Given the description of an element on the screen output the (x, y) to click on. 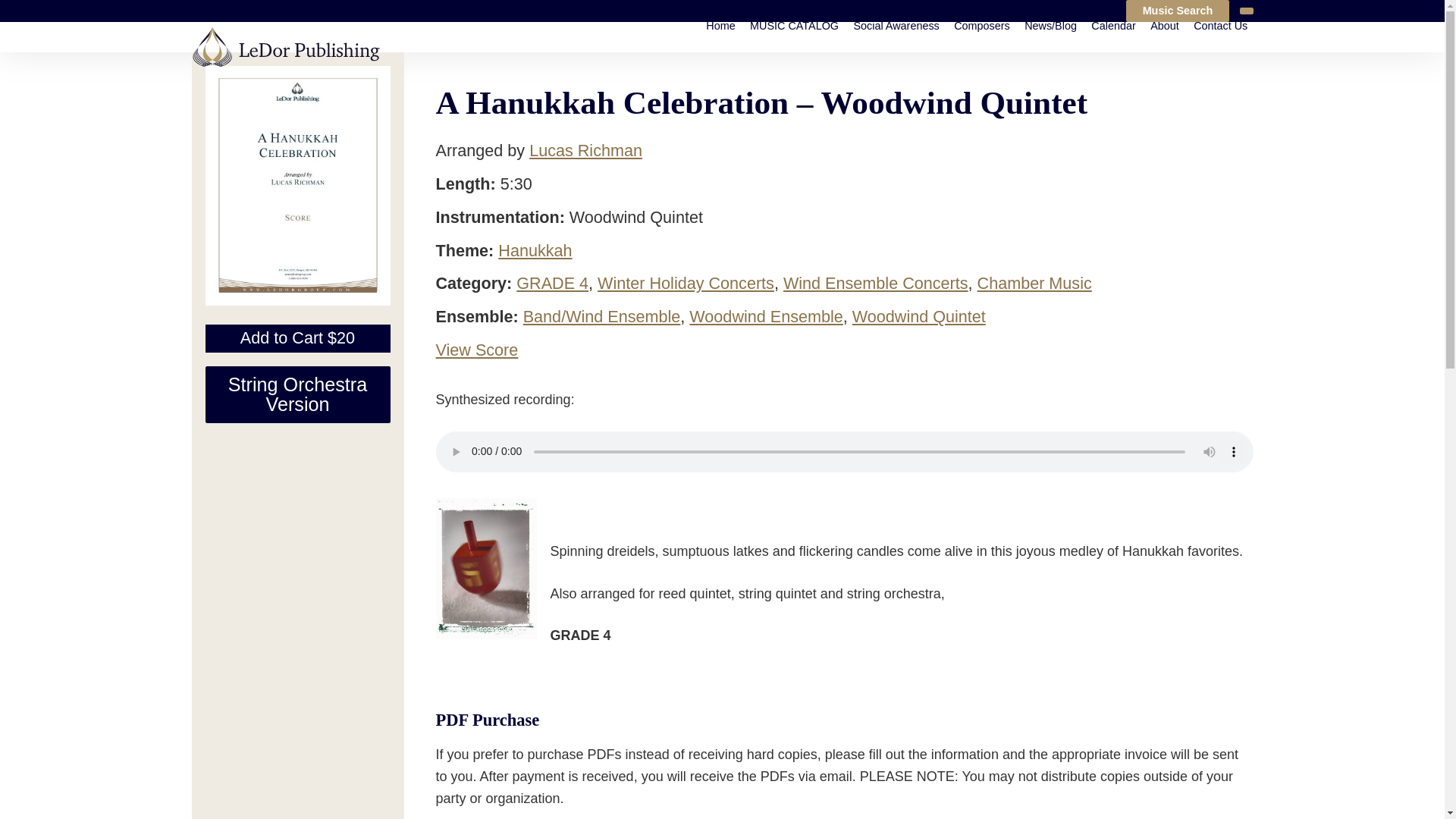
Home (720, 25)
GRADE 4 (552, 282)
Contact Us (1220, 25)
MUSIC CATALOG (794, 25)
Winter Holiday Concerts (685, 282)
Composers (981, 25)
Calendar (1113, 25)
View your shopping cart (1245, 10)
Social Awareness (895, 25)
About (1164, 25)
